Given the description of an element on the screen output the (x, y) to click on. 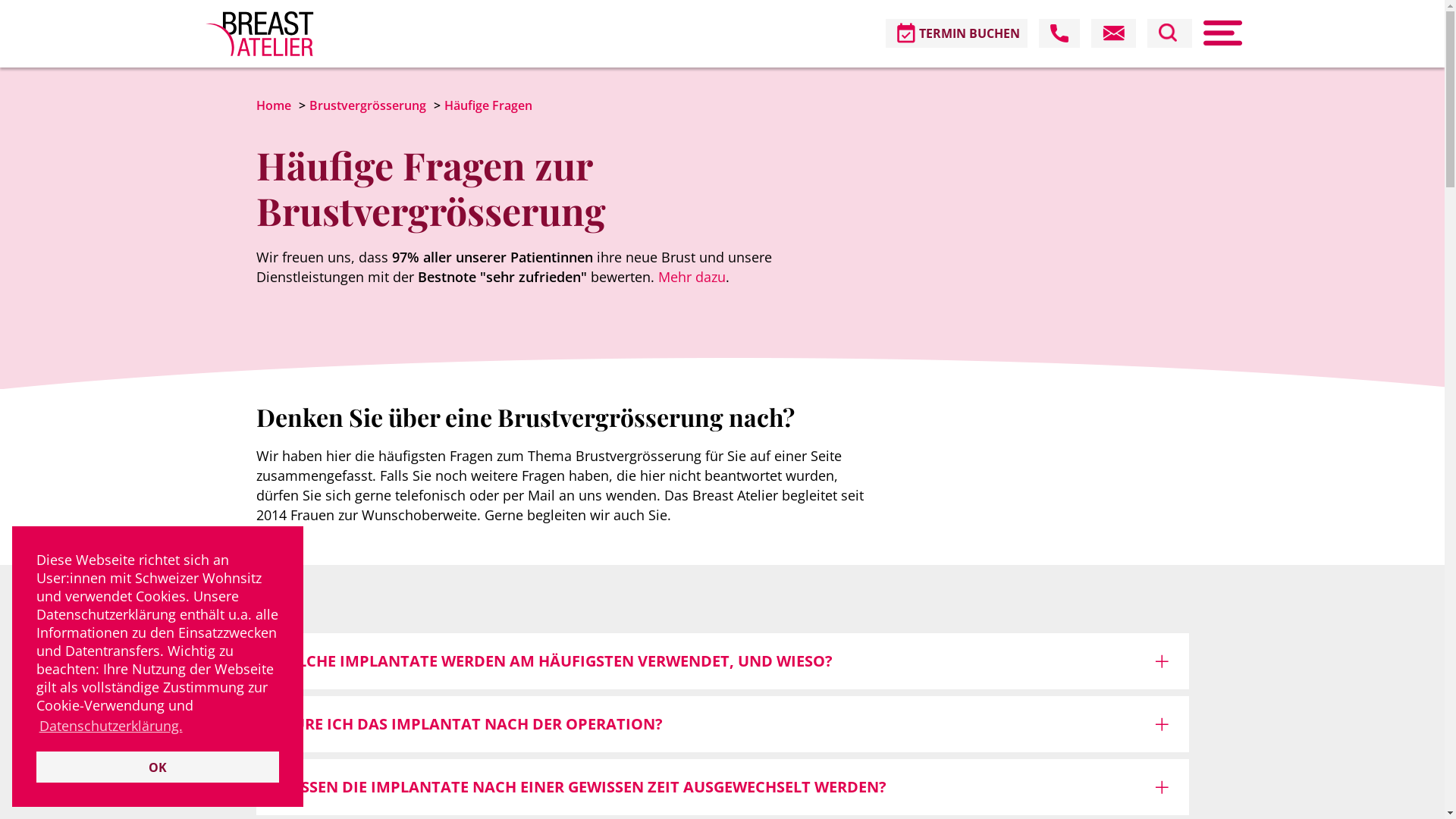
OK Element type: text (157, 766)
Home Element type: text (273, 105)
Mehr dazu Element type: text (691, 276)
TERMIN BUCHEN Element type: text (956, 32)
